Given the description of an element on the screen output the (x, y) to click on. 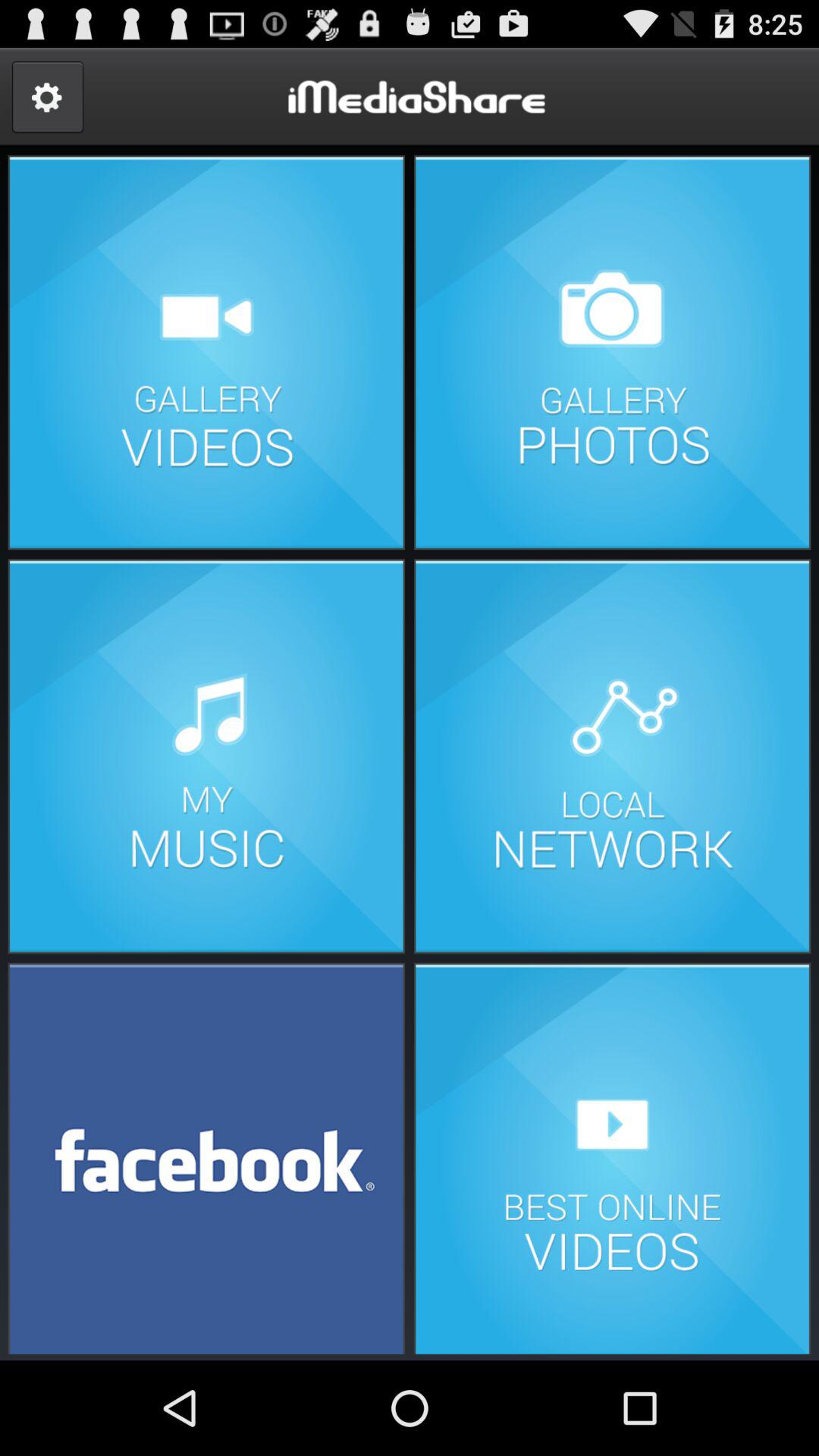
the button opens my saved music (206, 756)
